Given the description of an element on the screen output the (x, y) to click on. 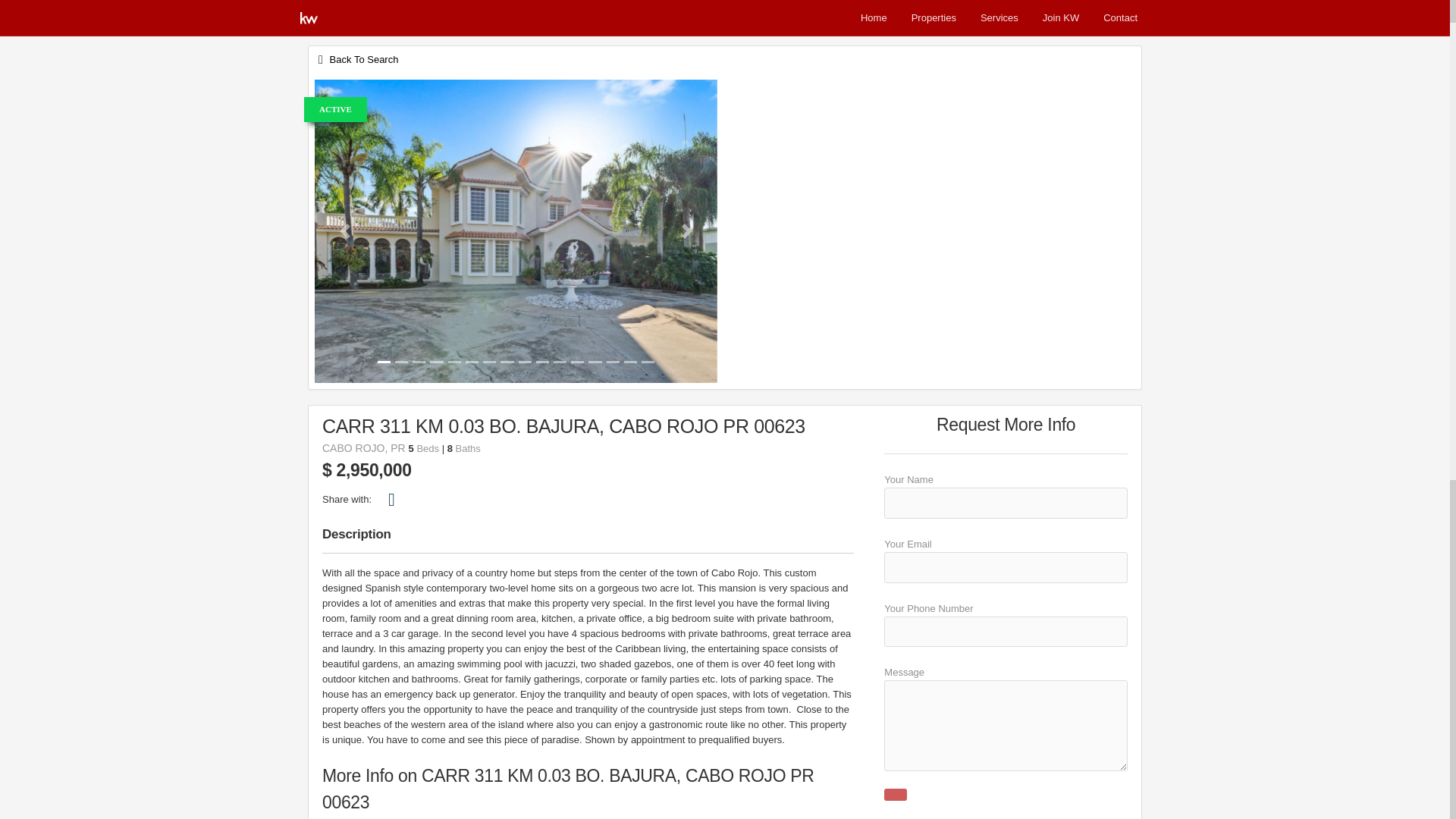
Back To Search (355, 59)
Services (999, 18)
Join KW (1060, 18)
Contact (1120, 18)
Properties (933, 18)
Home (873, 18)
